Given the description of an element on the screen output the (x, y) to click on. 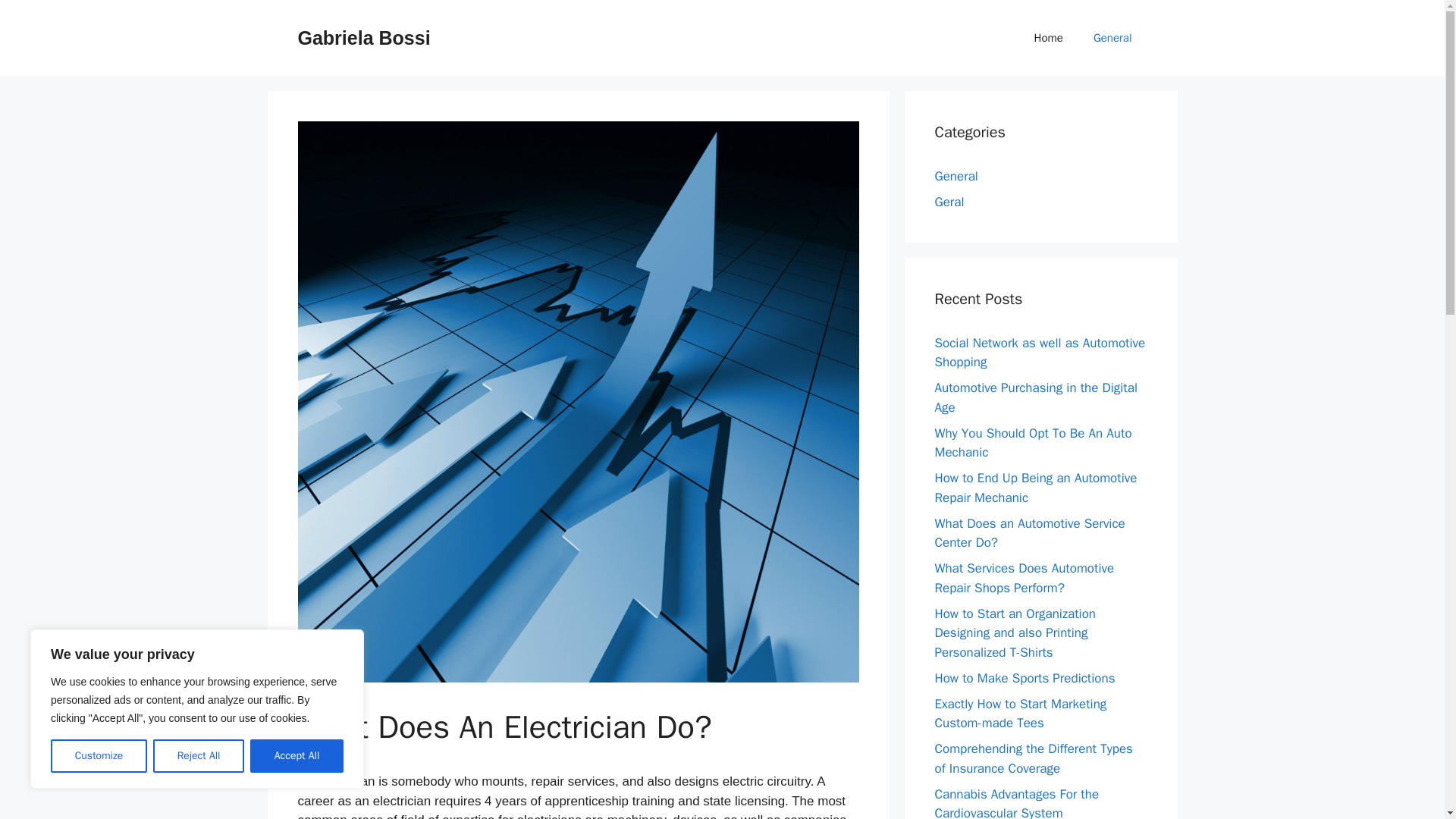
Accept All (296, 756)
Geral (948, 201)
What Services Does Automotive Repair Shops Perform? (1023, 578)
Reject All (198, 756)
How to End Up Being an Automotive Repair Mechanic (1035, 488)
Automotive Purchasing in the Digital Age (1035, 397)
Why You Should Opt To Be An Auto Mechanic (1032, 442)
What Does an Automotive Service Center Do? (1029, 533)
Customize (98, 756)
